Given the description of an element on the screen output the (x, y) to click on. 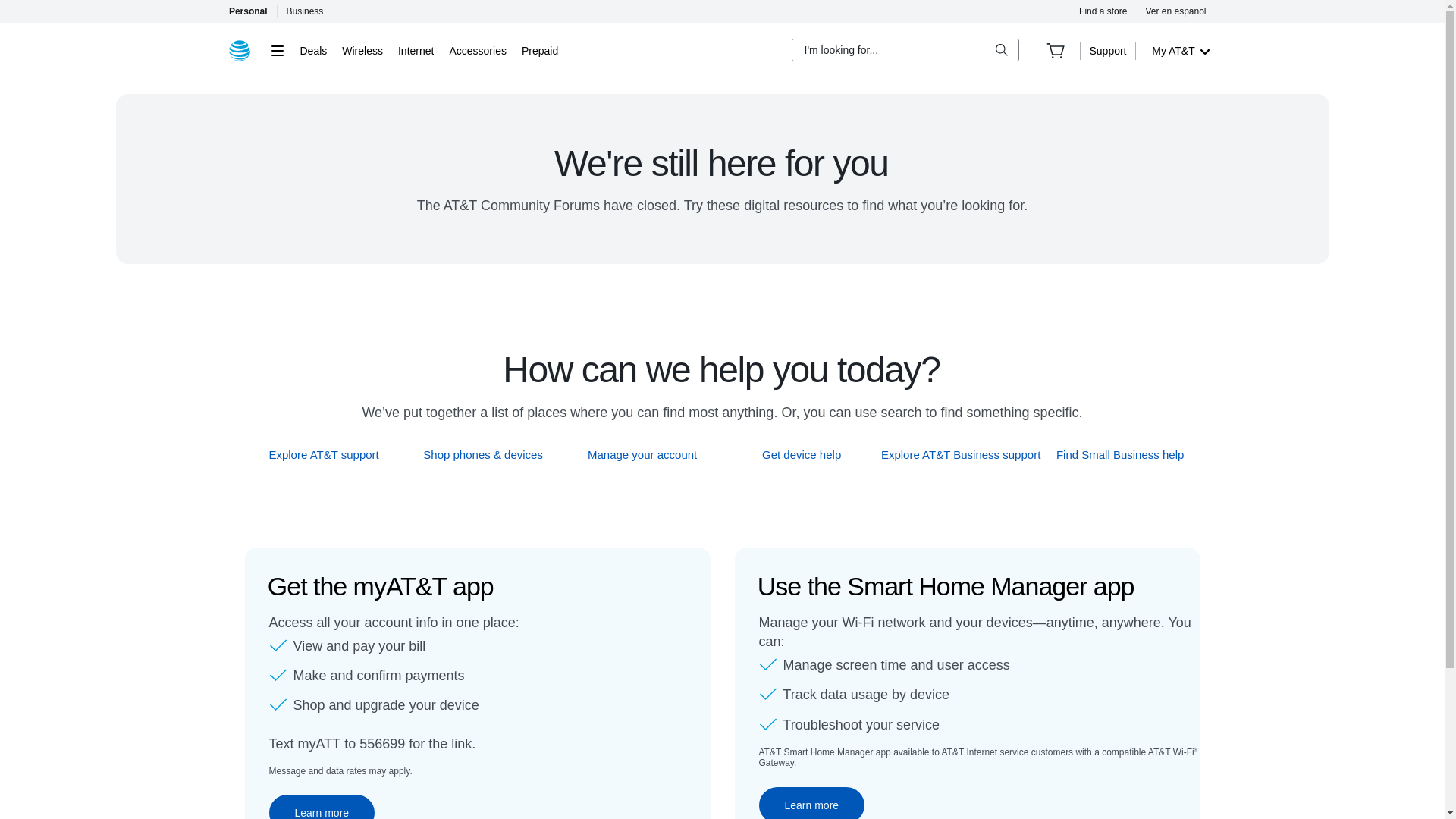
Support (1107, 50)
Business (305, 10)
Find Small Business help (1121, 454)
Prepaid (539, 50)
Get device help (801, 454)
Deals (313, 50)
Manage your account (642, 454)
Personal (247, 10)
Accessories (476, 50)
Support (1107, 50)
Learn more (811, 803)
Learn more (320, 806)
Internet (415, 50)
Find a store (1102, 10)
Cart (1055, 50)
